Given the description of an element on the screen output the (x, y) to click on. 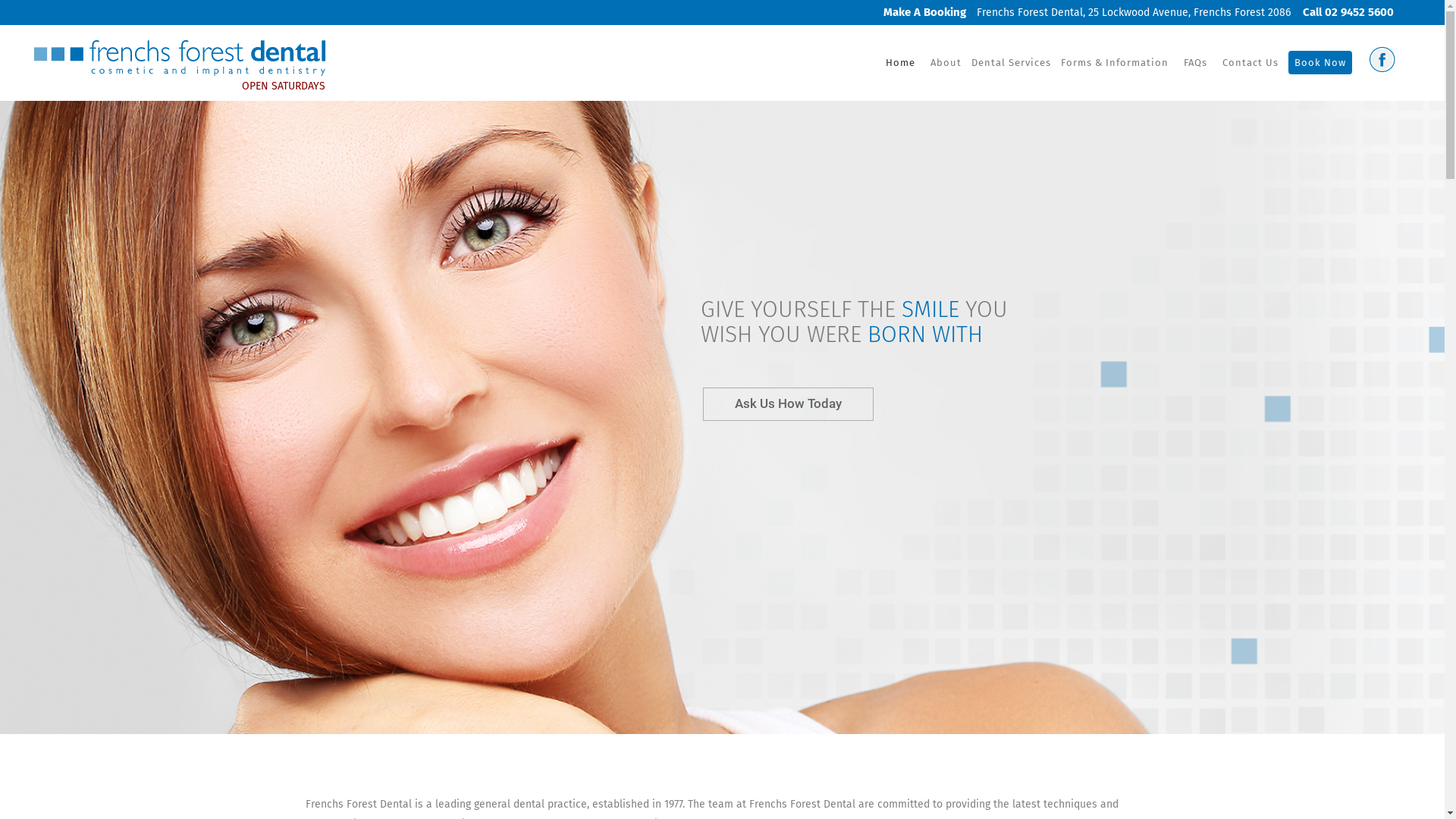
Home Element type: text (900, 62)
Contact Us Element type: text (1250, 62)
Ask Us How Today Element type: text (787, 403)
Dental Services Element type: text (1011, 62)
Make A Booking Element type: text (923, 11)
Call 02 9452 5600 Element type: text (1343, 11)
FAQs Element type: text (1195, 62)
Forms & Information Element type: text (1114, 62)
Book Now Element type: text (1320, 62)
About Element type: text (945, 62)
